Given the description of an element on the screen output the (x, y) to click on. 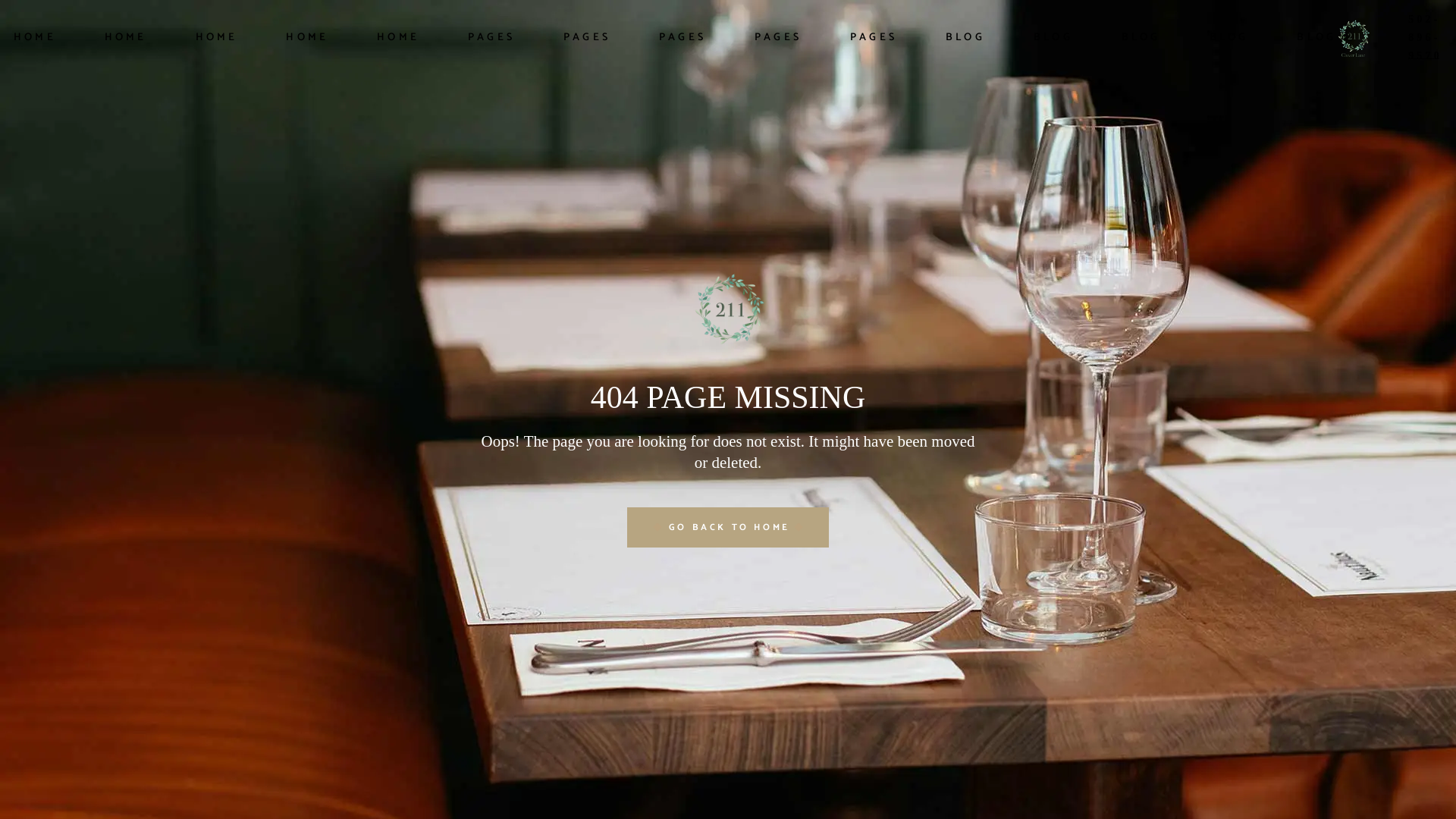
HOME Element type: text (306, 37)
BLOG Element type: text (1316, 37)
PAGES Element type: text (873, 37)
HOME Element type: text (216, 37)
PAGES Element type: text (682, 37)
HOME Element type: text (34, 37)
BLOG Element type: text (965, 37)
BLOG Element type: text (1141, 37)
HOME Element type: text (397, 37)
502-896-9570 Element type: text (1425, 37)
BLOG Element type: text (1228, 37)
GO BACK TO HOME Element type: text (727, 526)
PAGES Element type: text (777, 37)
PAGES Element type: text (586, 37)
PAGES Element type: text (490, 37)
HOME Element type: text (125, 37)
BLOG Element type: text (1053, 37)
